Given the description of an element on the screen output the (x, y) to click on. 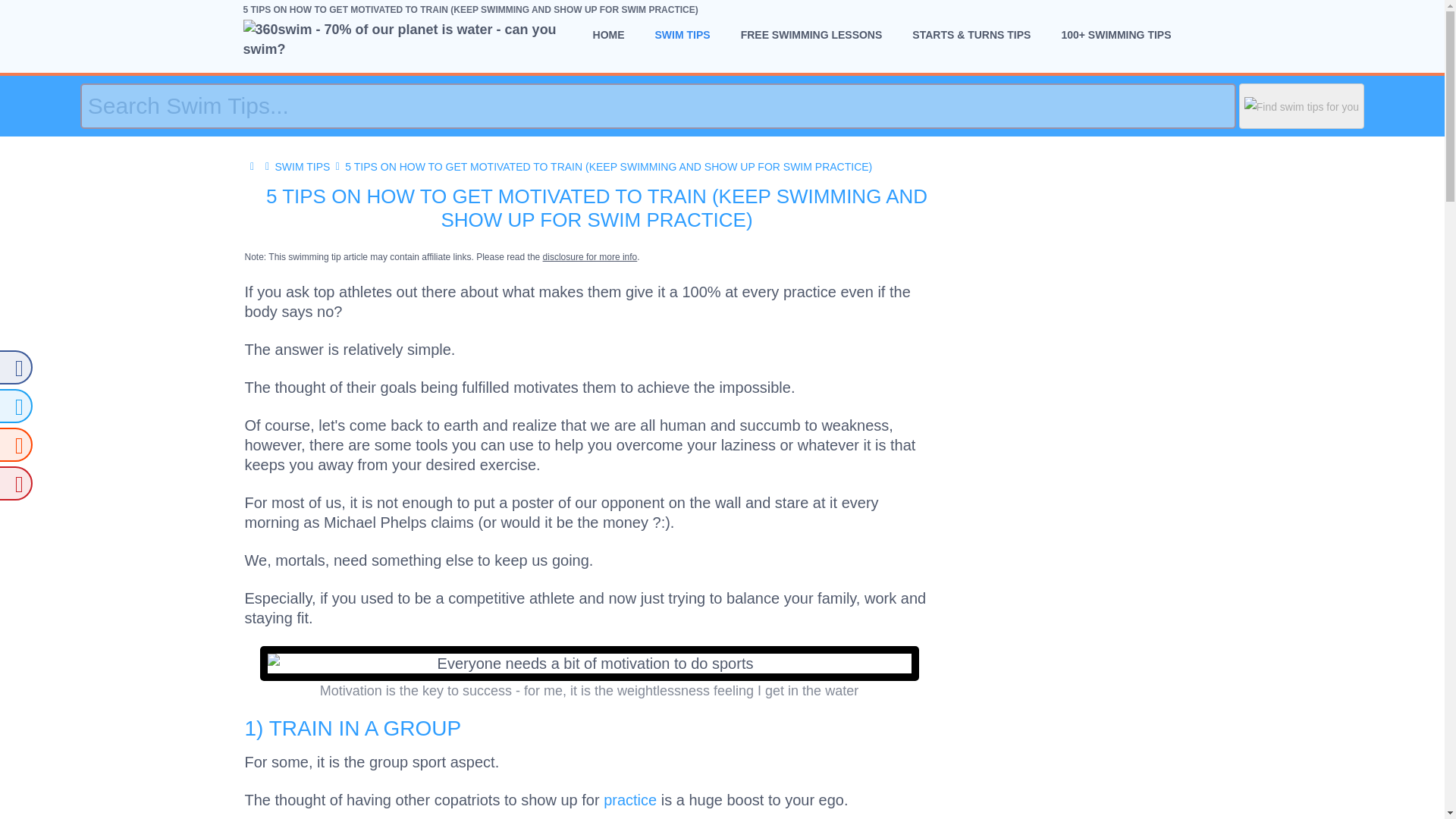
SWIM TIPS (682, 34)
HOME (609, 34)
disclosure for more info (590, 256)
FREE SWIMMING LESSONS (811, 34)
SWIM TIPS (302, 166)
360swim - can you swim? (251, 166)
practice (630, 799)
Swimming Tips (302, 166)
